Given the description of an element on the screen output the (x, y) to click on. 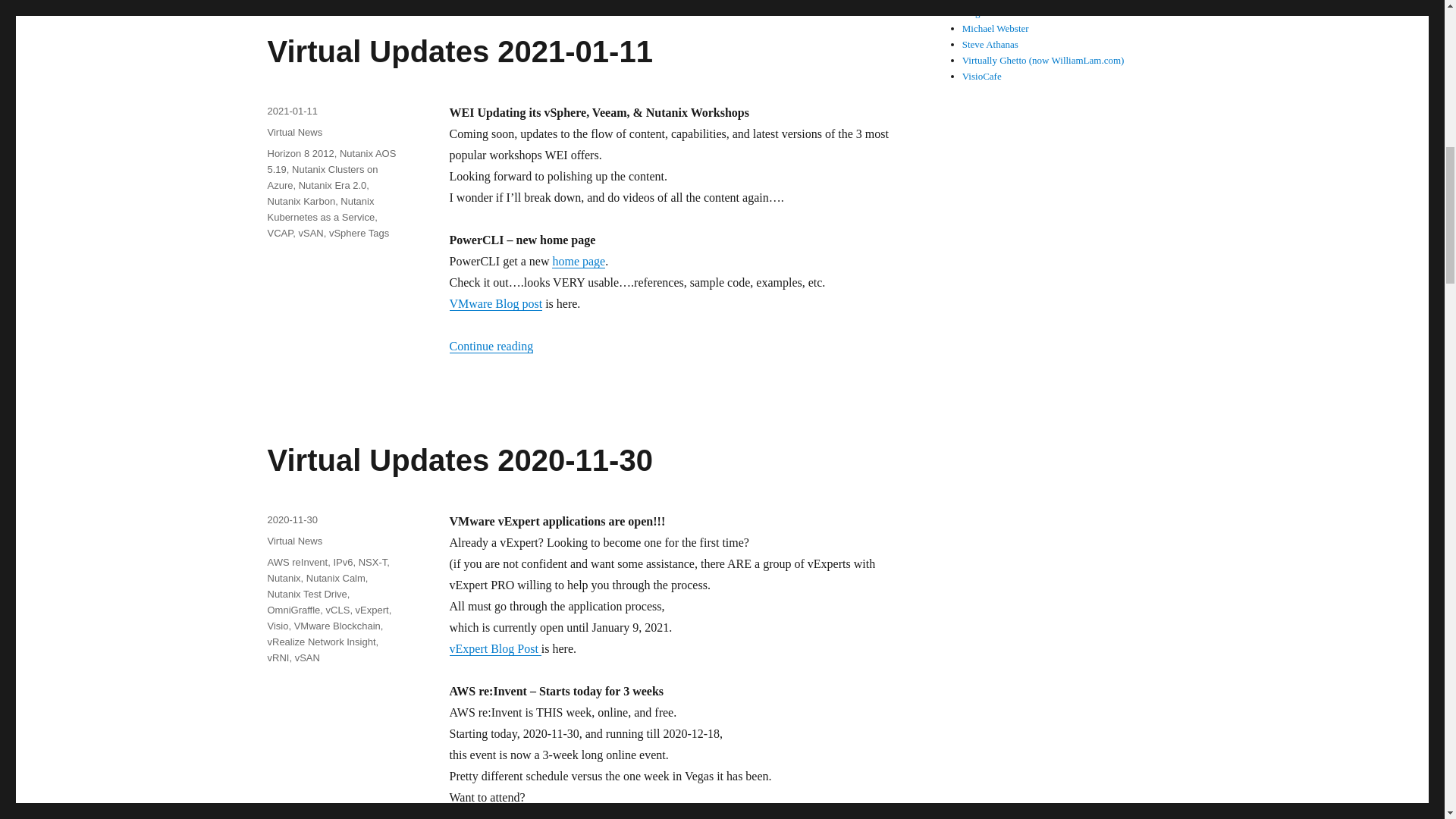
VMware Blog post (494, 303)
home page (578, 260)
Virtual Updates 2021-01-11 (459, 51)
